Given the description of an element on the screen output the (x, y) to click on. 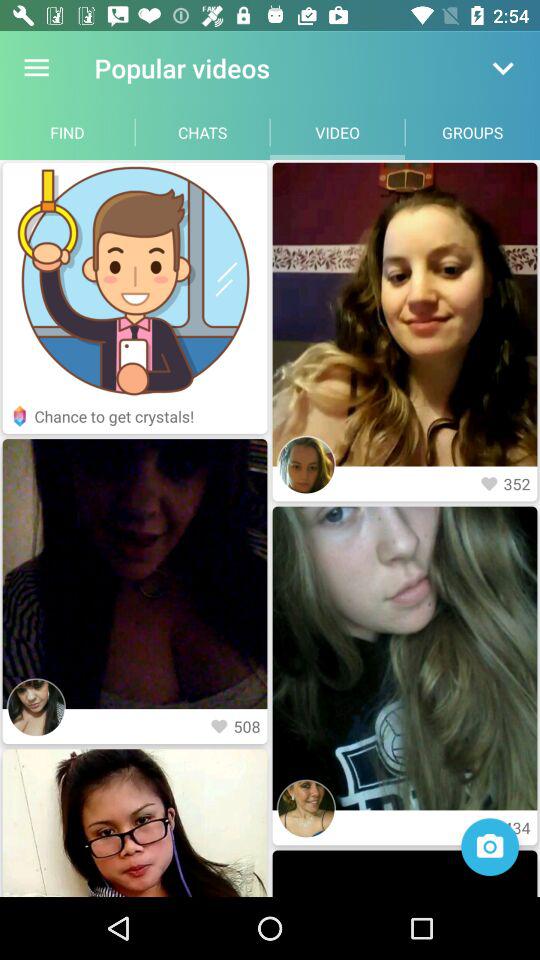
scroll until groups (472, 132)
